Given the description of an element on the screen output the (x, y) to click on. 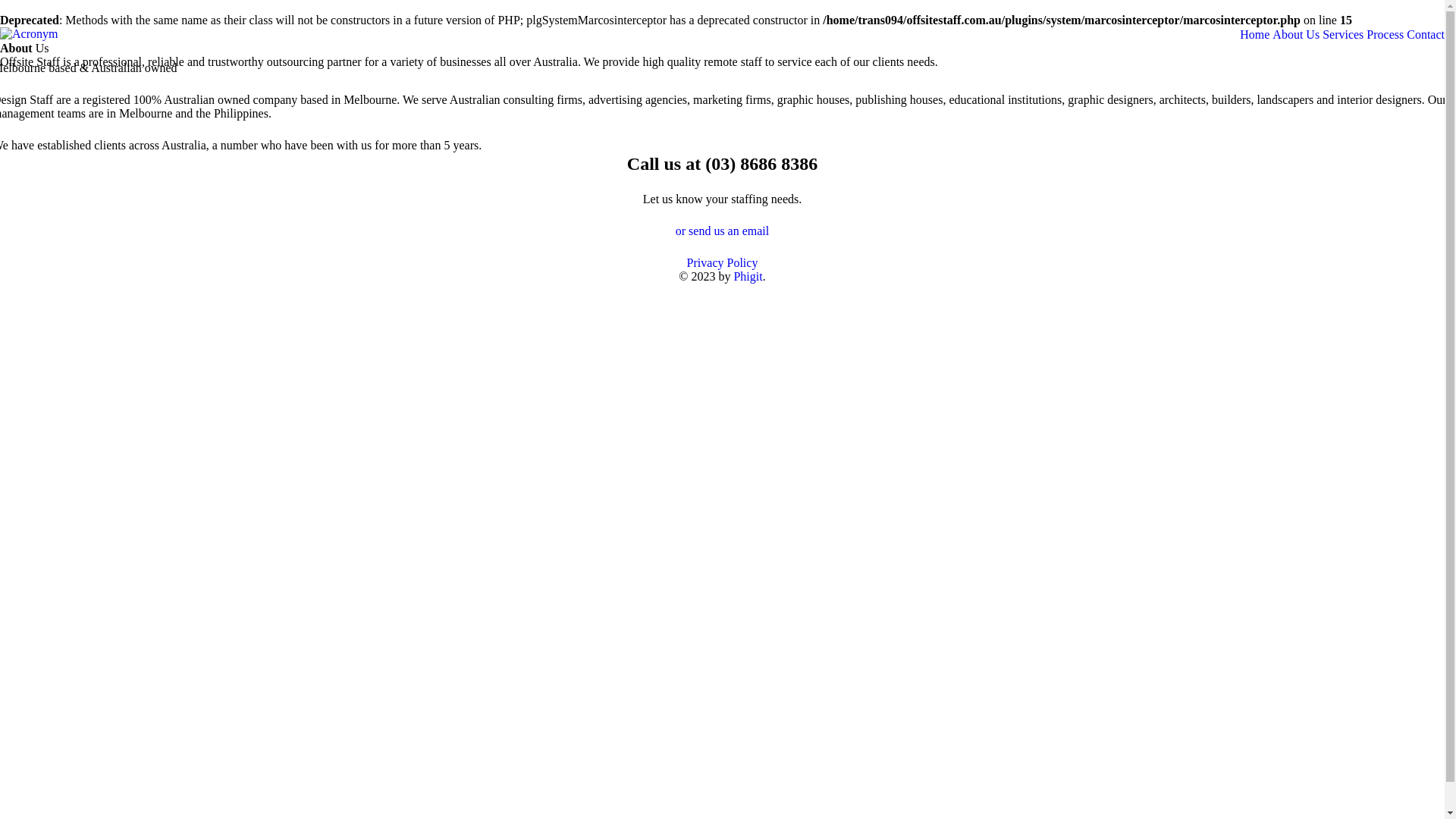
or send us an email Element type: text (722, 230)
Process Element type: text (1384, 34)
Acronym Element type: hover (28, 32)
Privacy Policy Element type: text (722, 262)
Phigit Element type: text (747, 275)
About Us Element type: text (1295, 34)
Services Element type: text (1342, 34)
Home Element type: text (1254, 34)
Contact Element type: text (1425, 34)
